Given the description of an element on the screen output the (x, y) to click on. 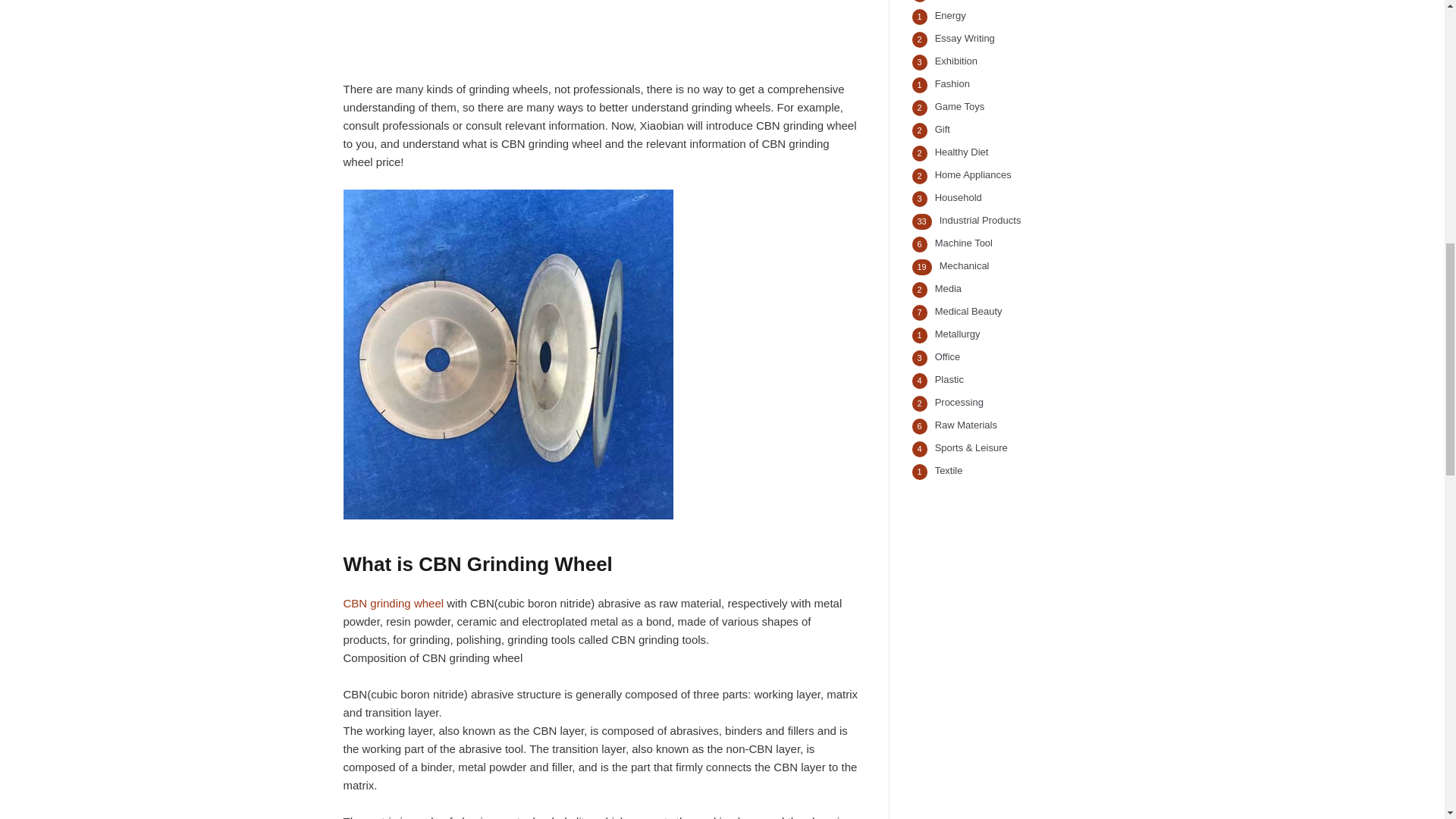
1800 CNC Horizontal Honing Machine (599, 19)
